Given the description of an element on the screen output the (x, y) to click on. 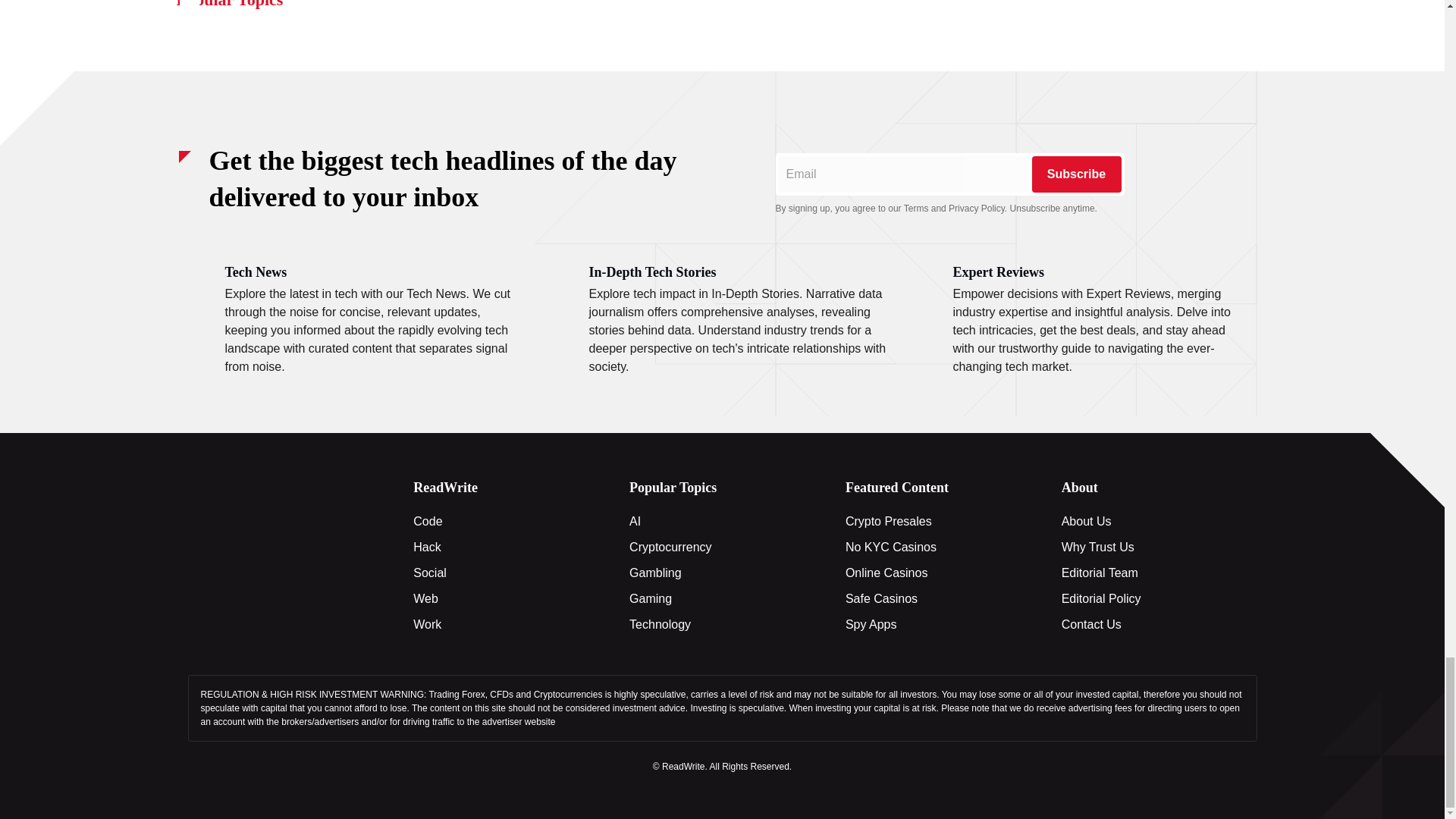
Subscribe (1075, 174)
